Given the description of an element on the screen output the (x, y) to click on. 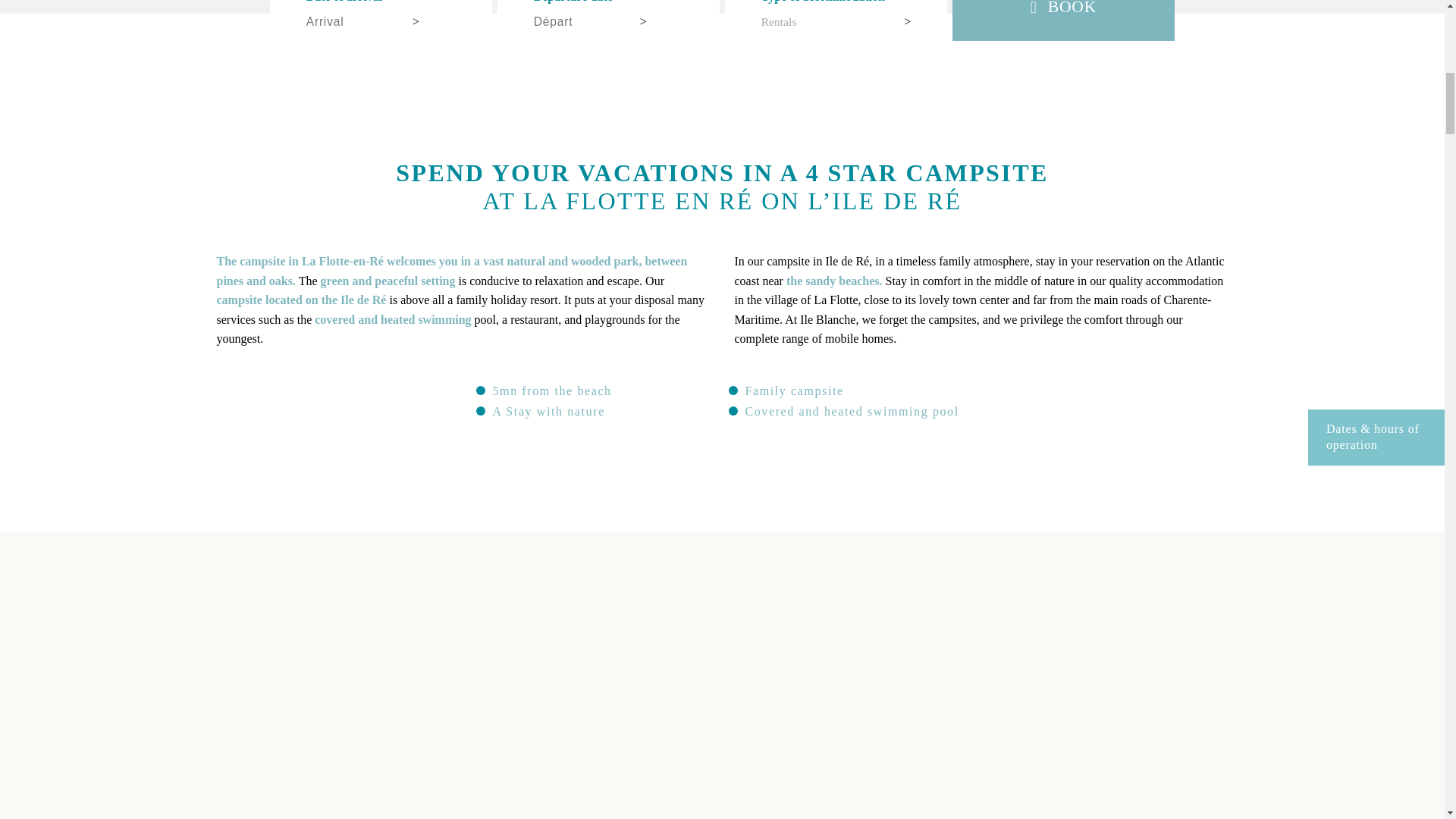
BOOK (1063, 20)
